Given the description of an element on the screen output the (x, y) to click on. 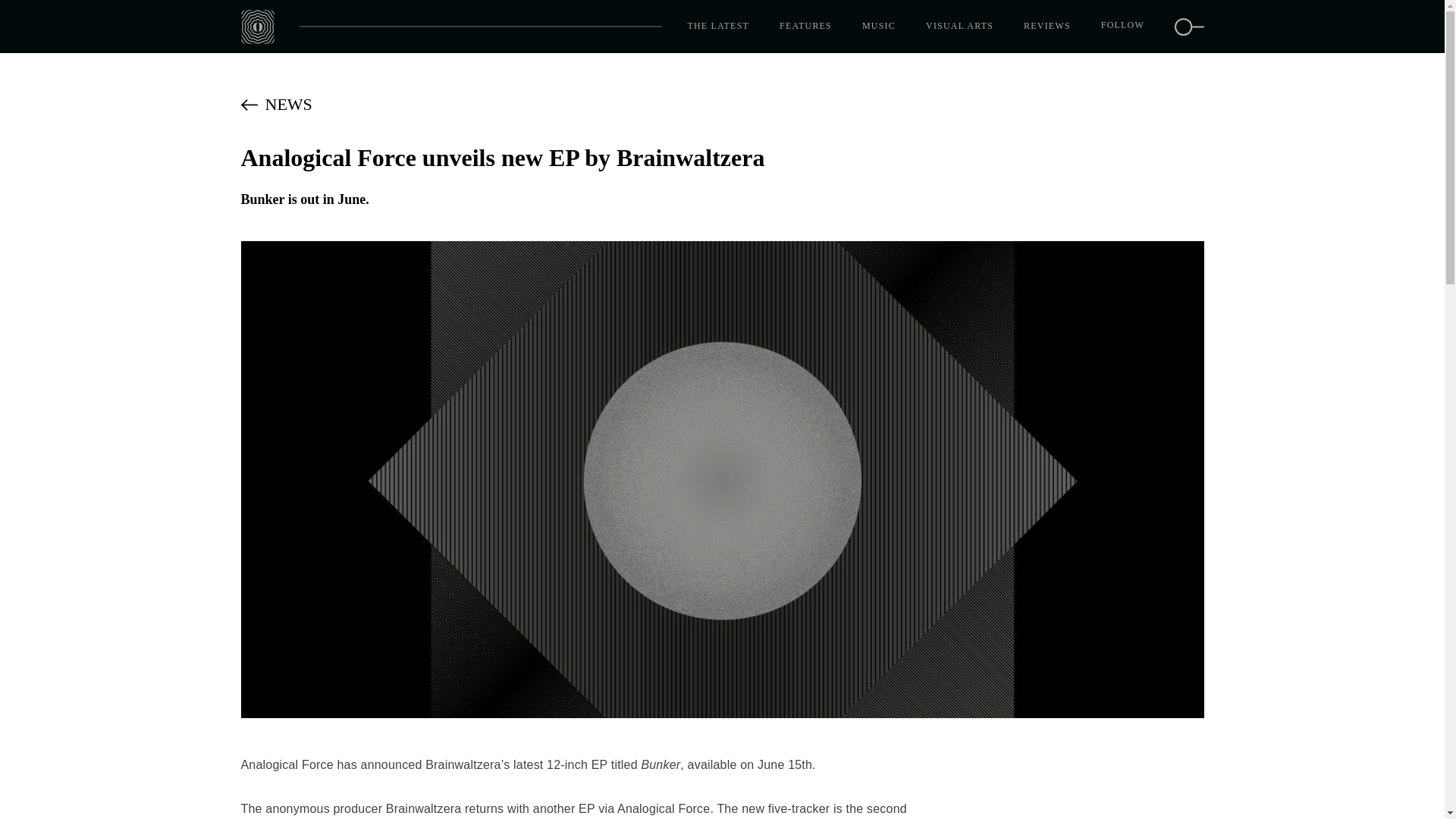
NEWS (722, 104)
FEATURES (804, 26)
FOLLOW (1122, 25)
THE LATEST (718, 26)
VISUAL ARTS (959, 26)
